Given the description of an element on the screen output the (x, y) to click on. 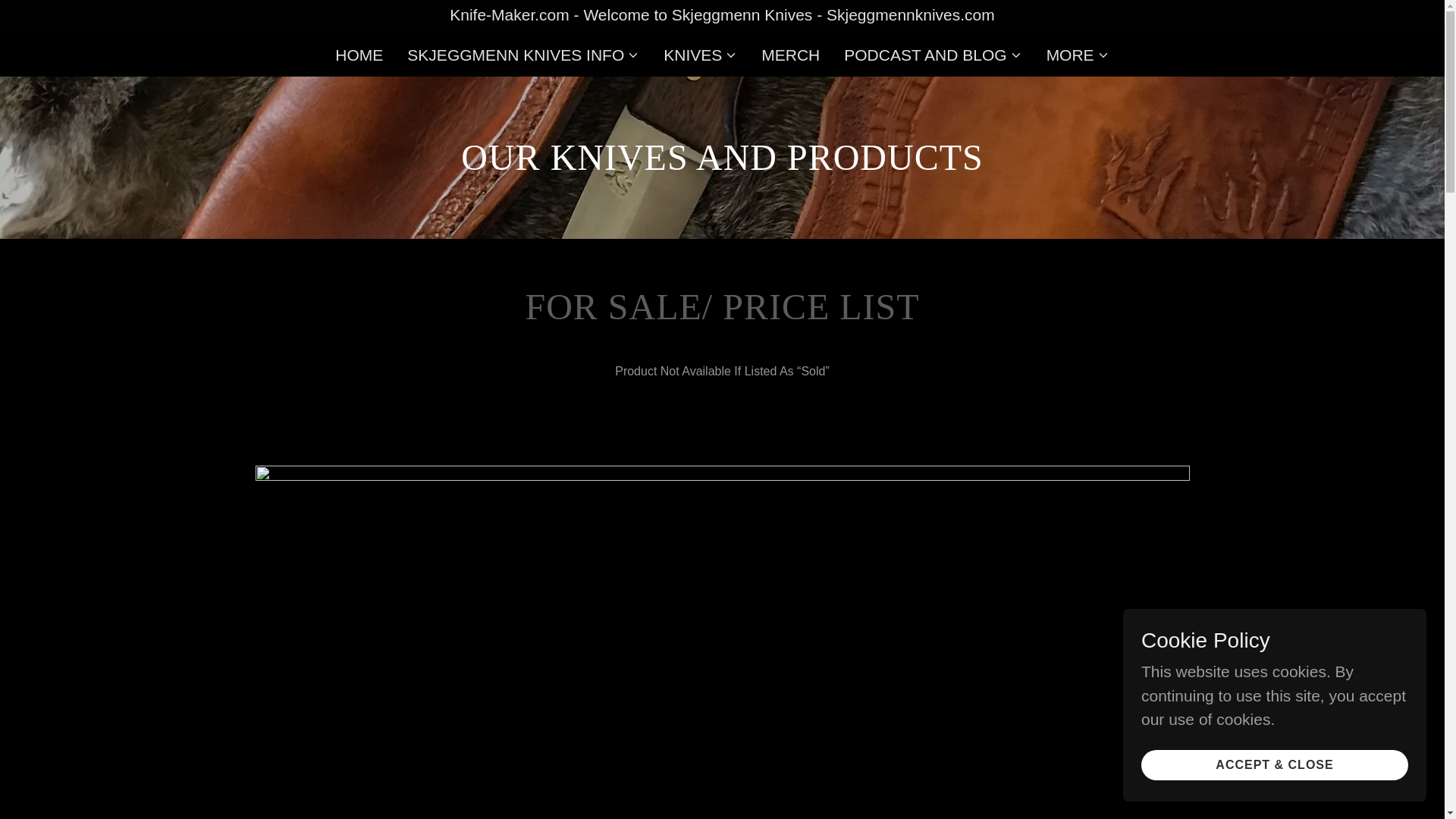
SKJEGGMENN KNIVES INFO (523, 54)
PODCAST AND BLOG (933, 54)
HOME (358, 53)
MERCH (790, 53)
KNIVES (699, 54)
MORE (1077, 54)
